Given the description of an element on the screen output the (x, y) to click on. 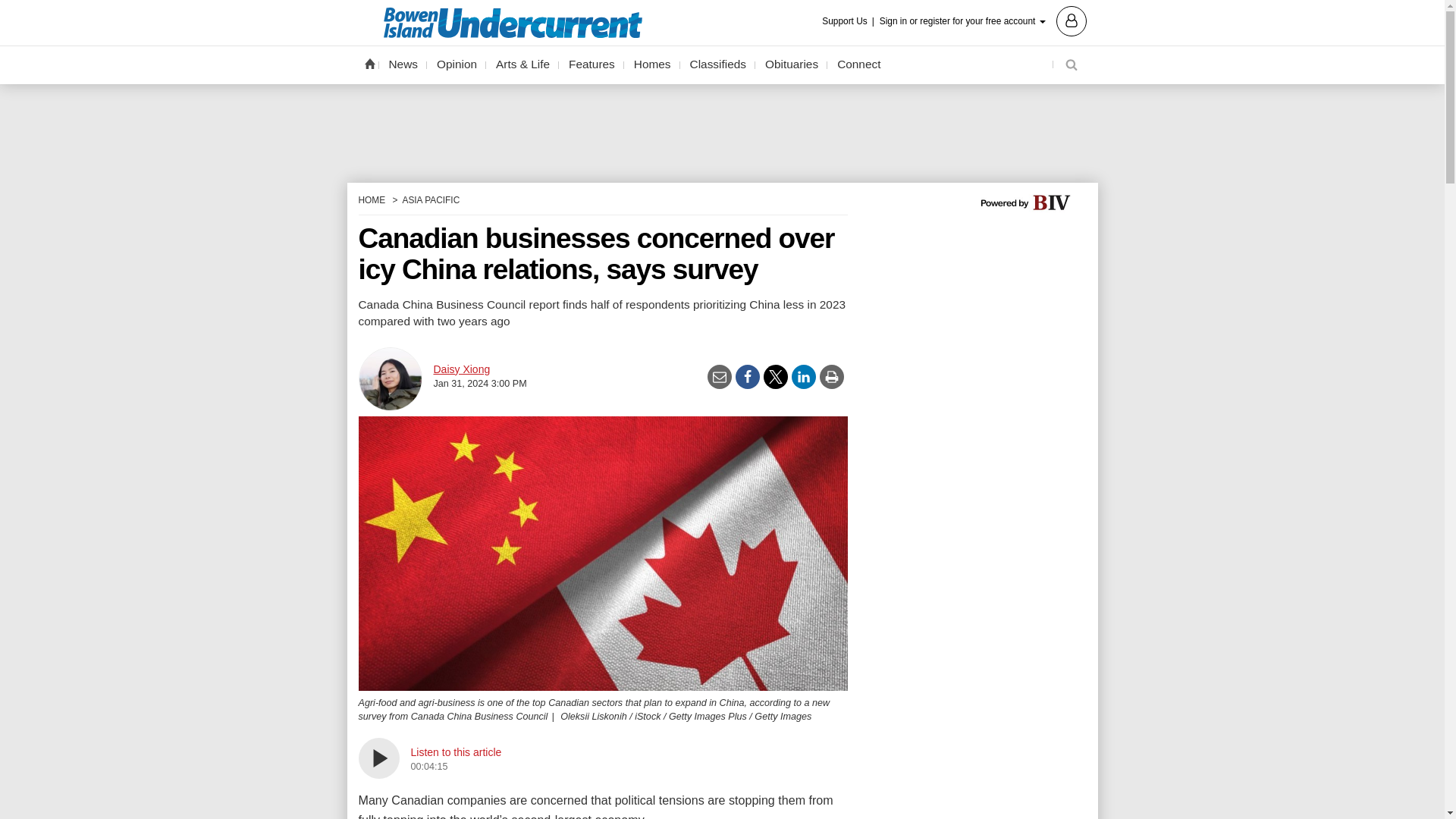
Home (368, 63)
Opinion (456, 64)
Sign in or register for your free account (982, 20)
News (403, 64)
Support Us (849, 21)
